Given the description of an element on the screen output the (x, y) to click on. 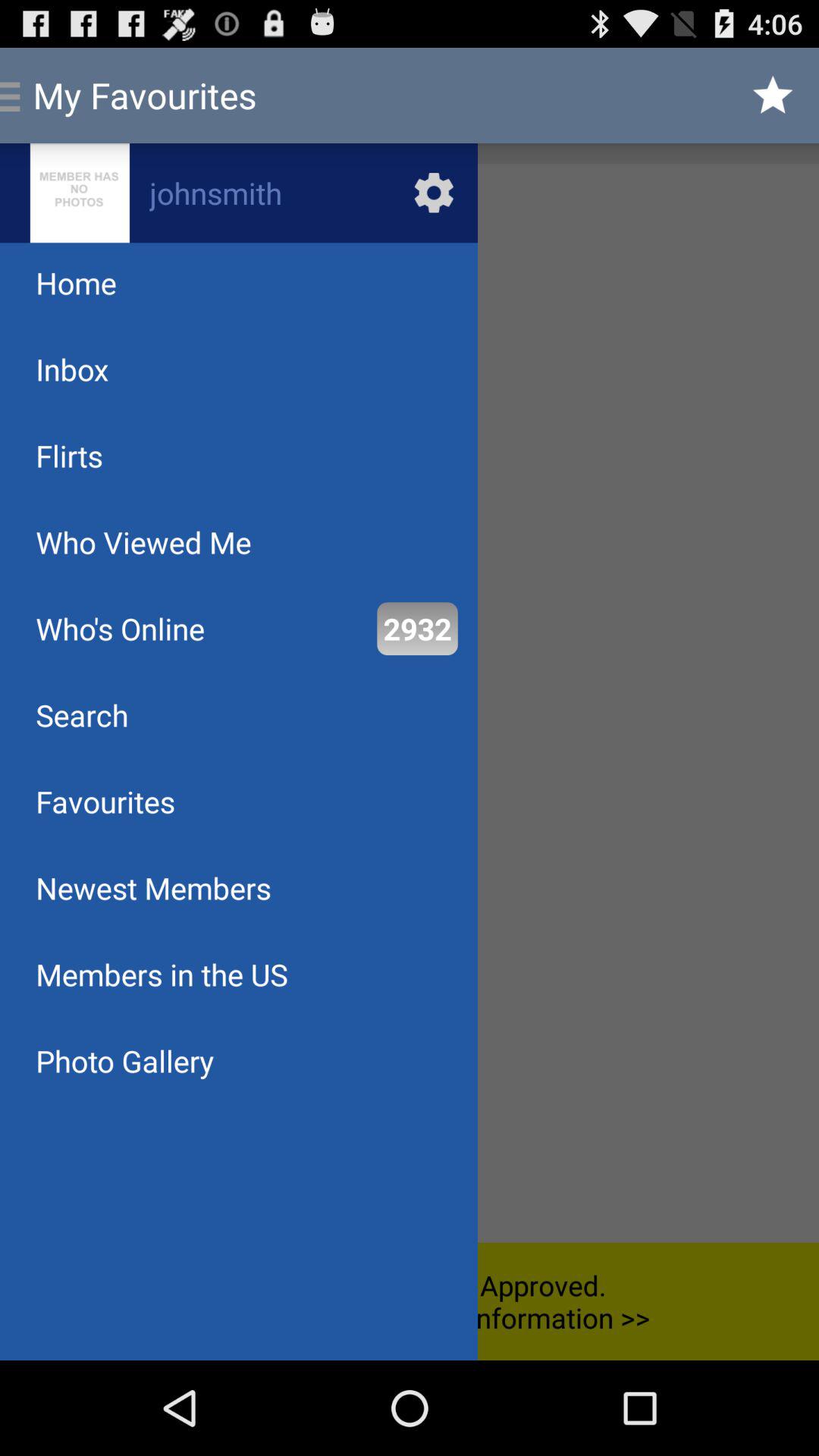
flip until the newest members item (153, 887)
